Given the description of an element on the screen output the (x, y) to click on. 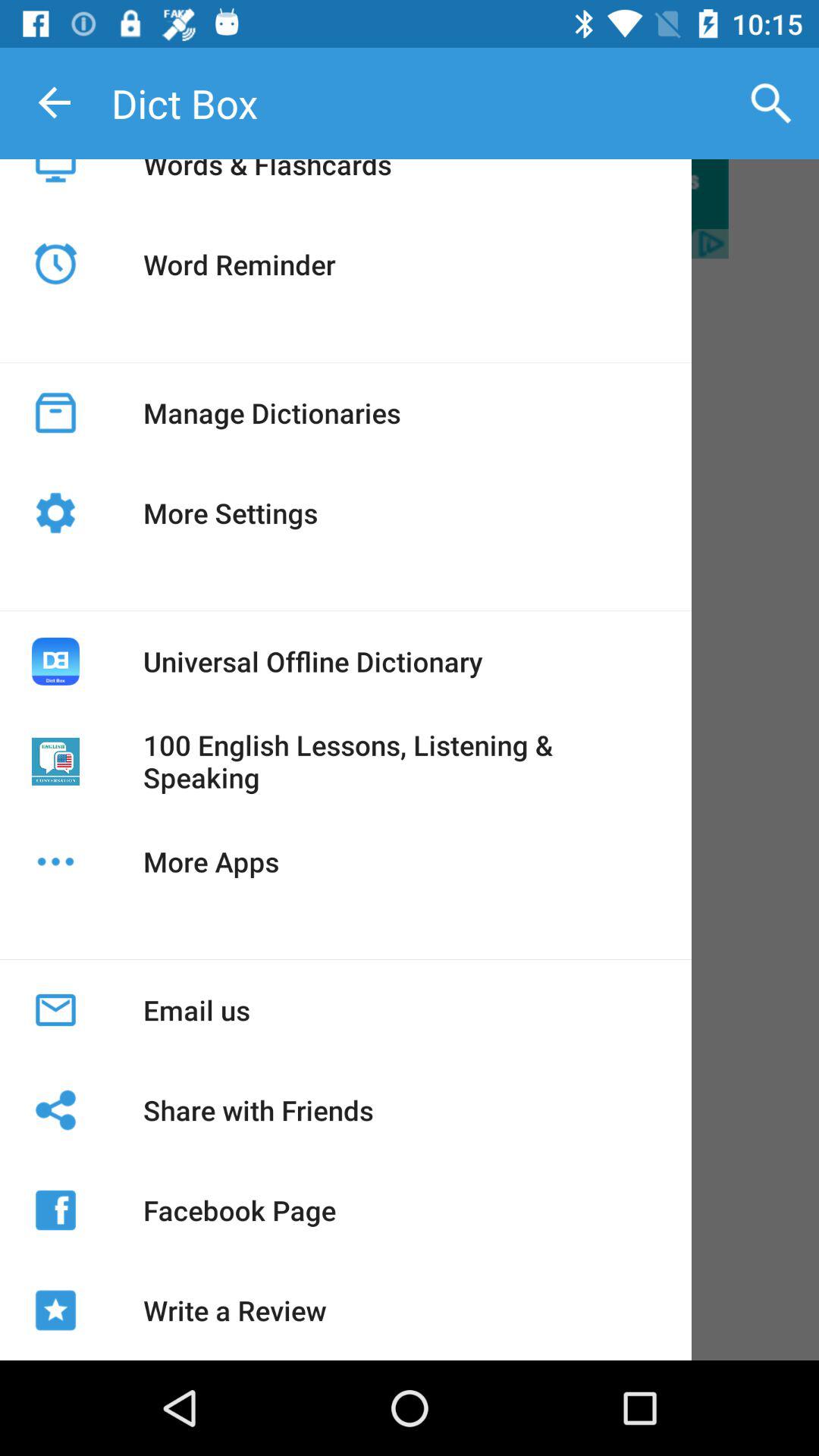
turn off icon below dict box item (267, 181)
